Given the description of an element on the screen output the (x, y) to click on. 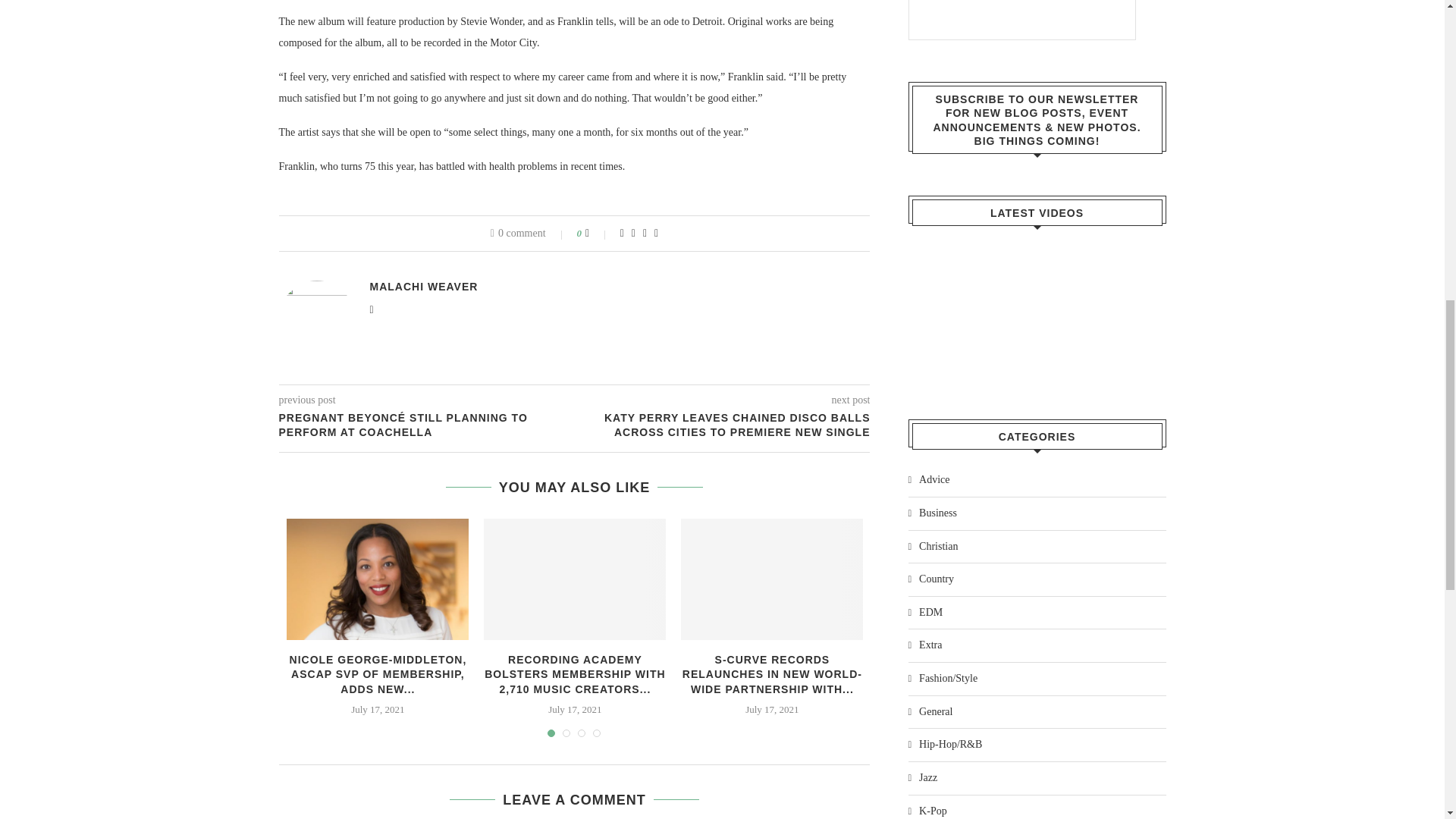
MALACHI WEAVER (424, 286)
Author Malachi Weaver (424, 286)
Like (597, 233)
